Given the description of an element on the screen output the (x, y) to click on. 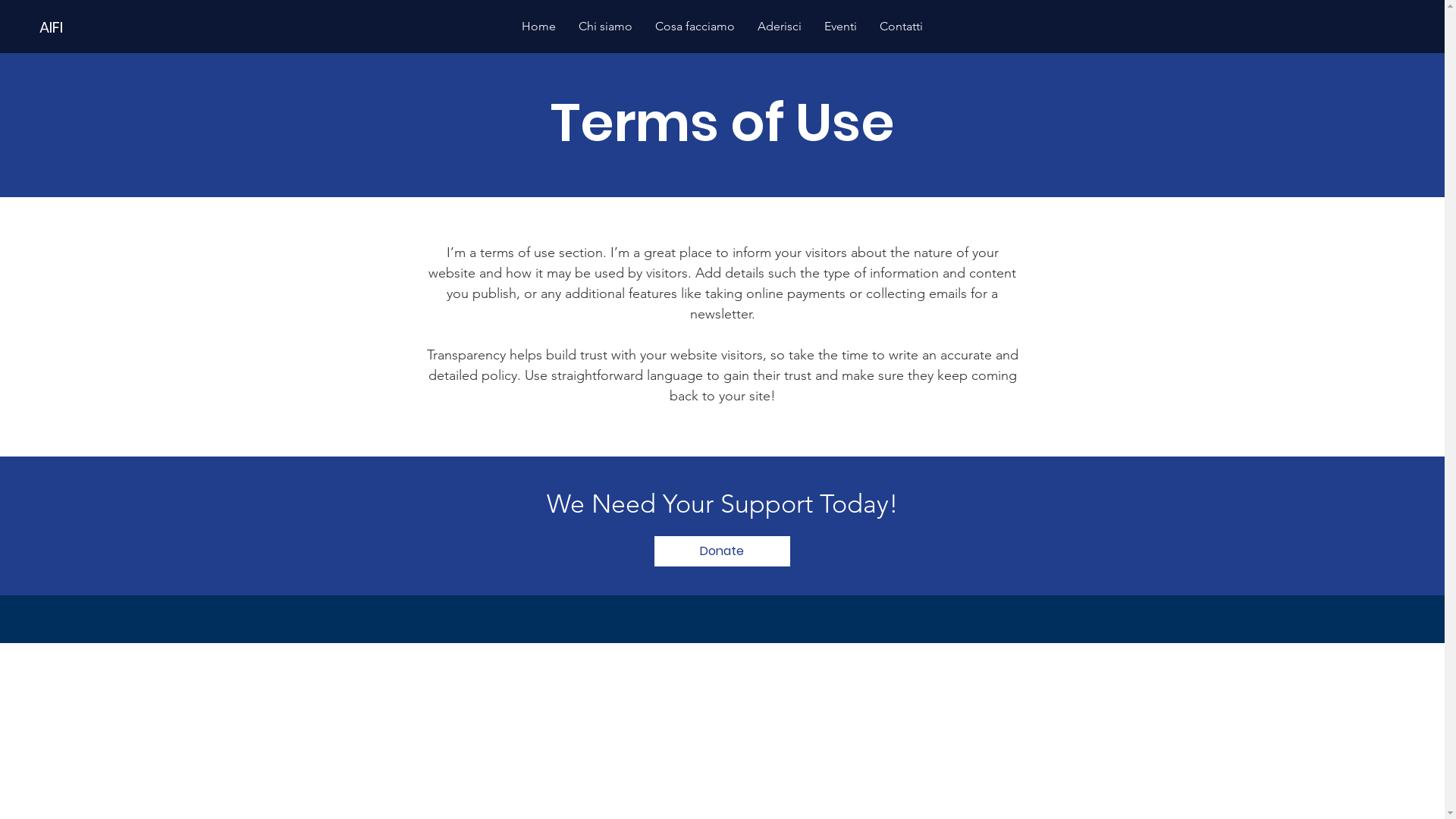
AIFI Element type: text (90, 26)
Contatti Element type: text (901, 26)
Home Element type: text (538, 26)
Aderisci Element type: text (779, 26)
Cosa facciamo Element type: text (694, 26)
Chi siamo Element type: text (605, 26)
Donate Element type: text (721, 551)
Eventi Element type: text (840, 26)
